Given the description of an element on the screen output the (x, y) to click on. 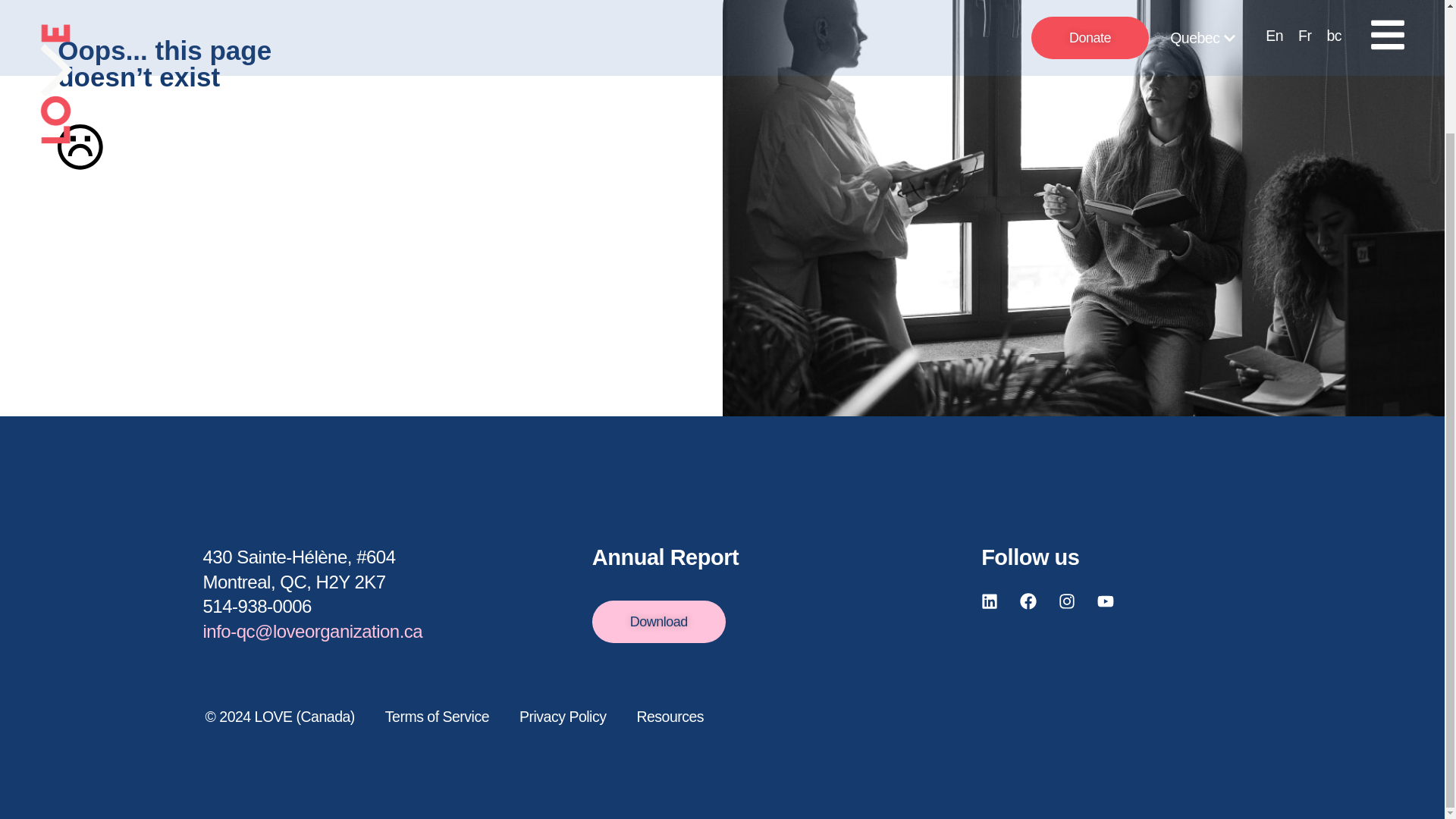
Terms of Service (436, 716)
514-938-0006 (257, 606)
Privacy Policy (562, 716)
Download (658, 620)
Resources (670, 716)
